Given the description of an element on the screen output the (x, y) to click on. 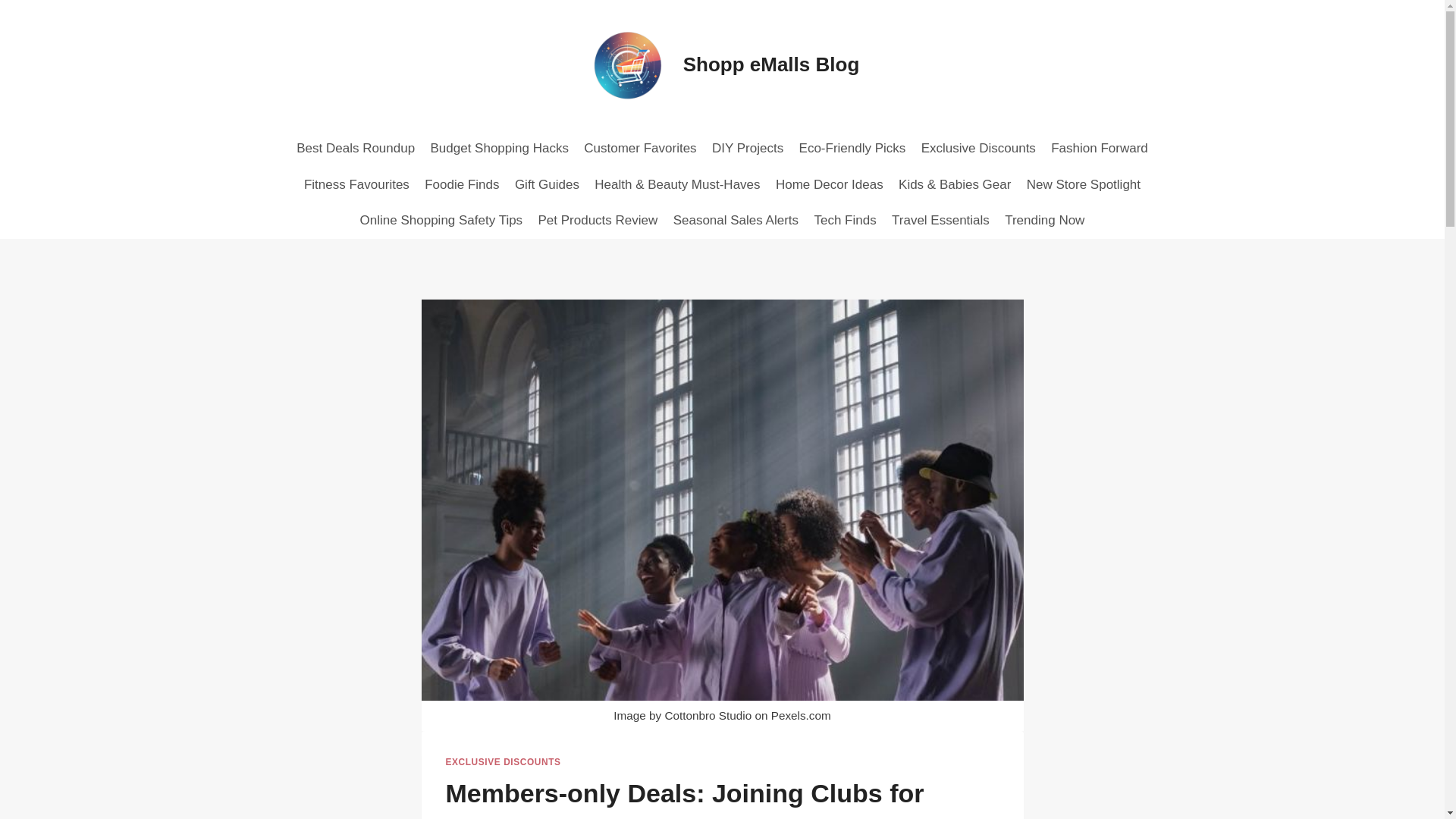
DIY Projects (748, 148)
Seasonal Sales Alerts (735, 220)
Budget Shopping Hacks (499, 148)
Pet Products Review (597, 220)
Best Deals Roundup (355, 148)
New Store Spotlight (1083, 185)
Tech Finds (844, 220)
Foodie Finds (461, 185)
Fashion Forward (1099, 148)
Fitness Favourites (356, 185)
Exclusive Discounts (977, 148)
EXCLUSIVE DISCOUNTS (502, 761)
Travel Essentials (940, 220)
Online Shopping Safety Tips (440, 220)
Trending Now (1045, 220)
